Given the description of an element on the screen output the (x, y) to click on. 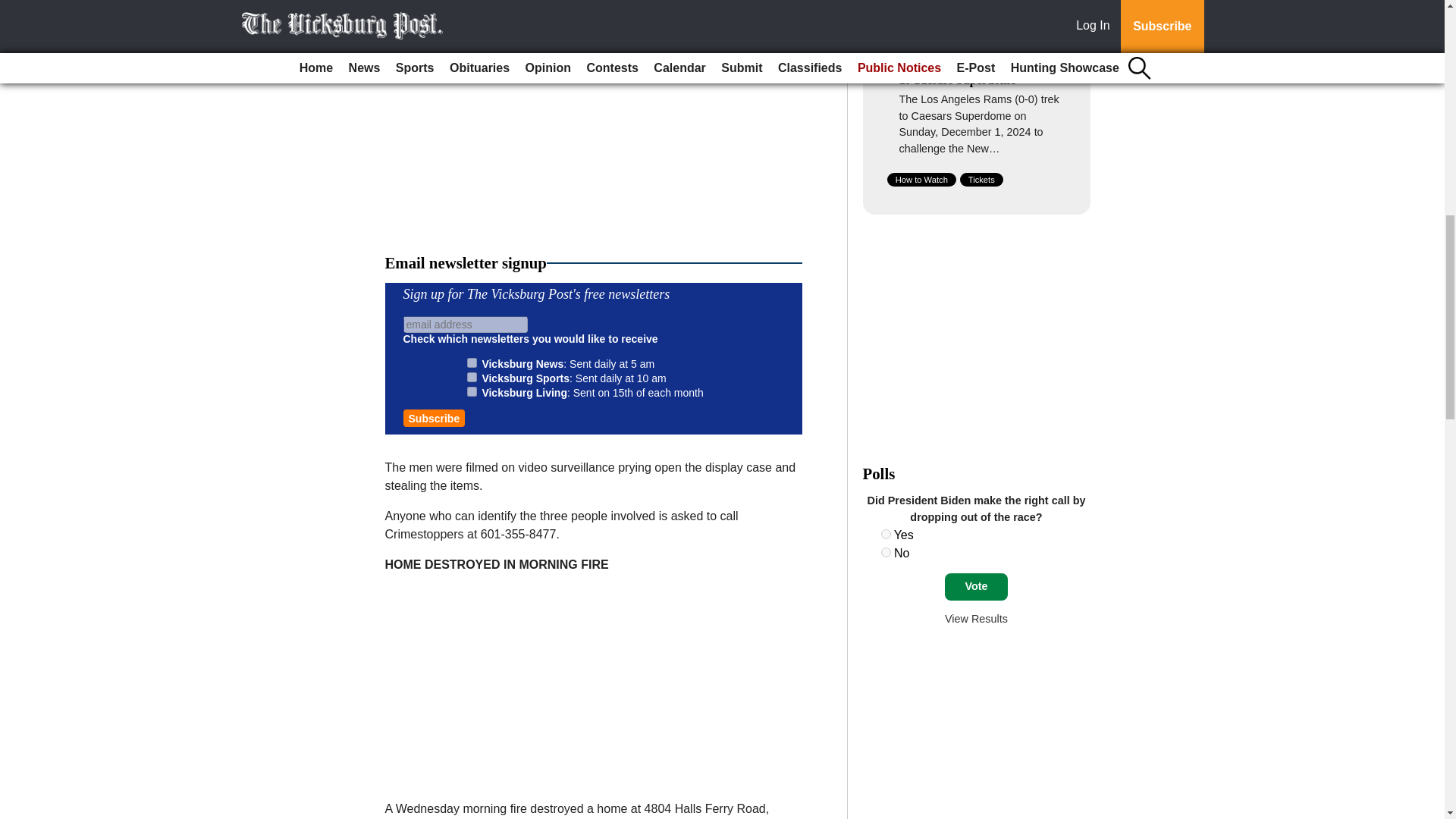
603 (885, 552)
View Results Of This Poll (975, 618)
Subscribe (434, 417)
2 (472, 377)
   Vote    (975, 586)
602 (885, 533)
1 (472, 362)
Subscribe (434, 417)
